Given the description of an element on the screen output the (x, y) to click on. 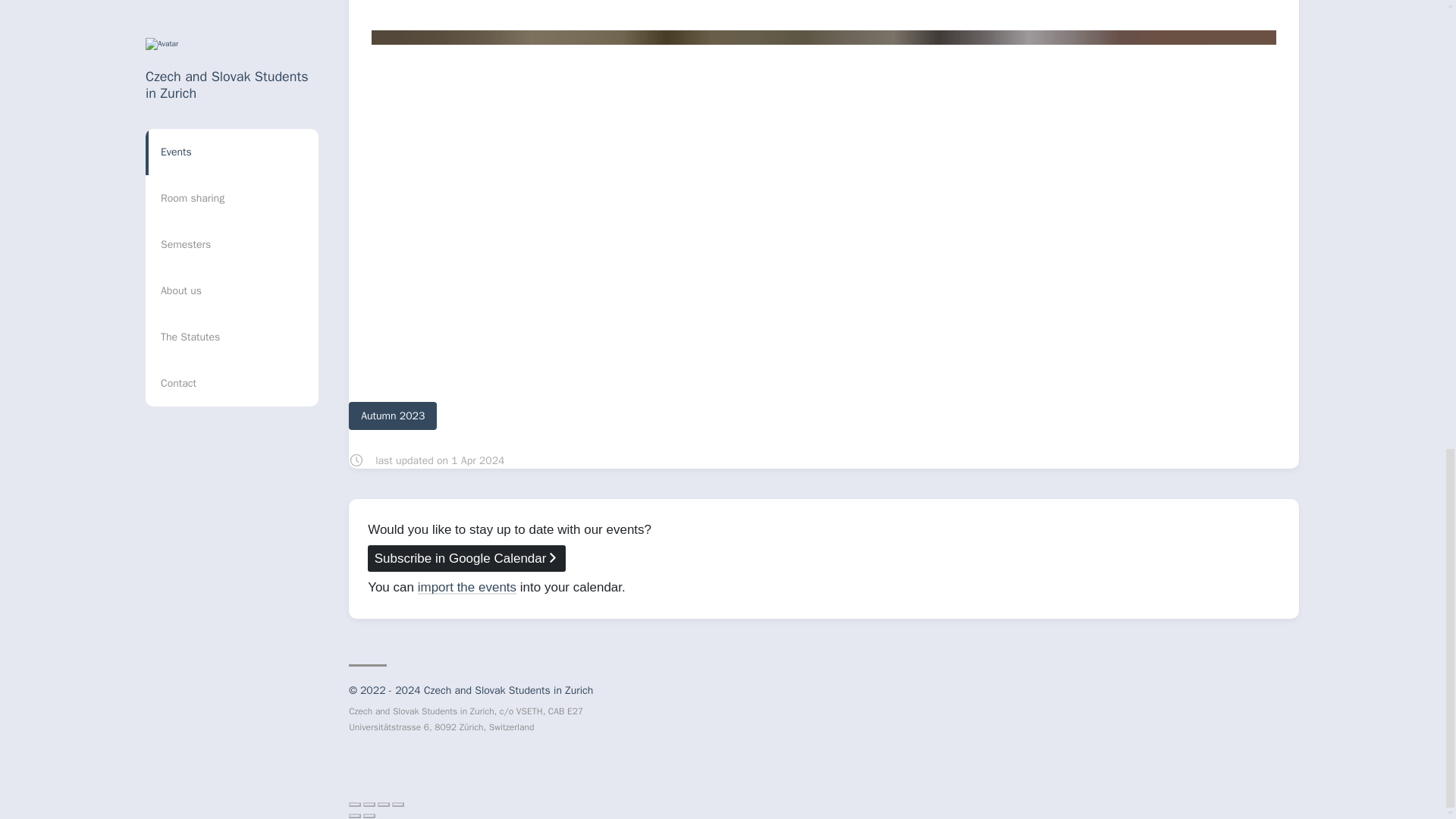
import the events (466, 586)
Share (368, 804)
Toggle fullscreen (383, 804)
Autumn 2023 (392, 415)
Subscribe in Google Calendar (467, 558)
